Given the description of an element on the screen output the (x, y) to click on. 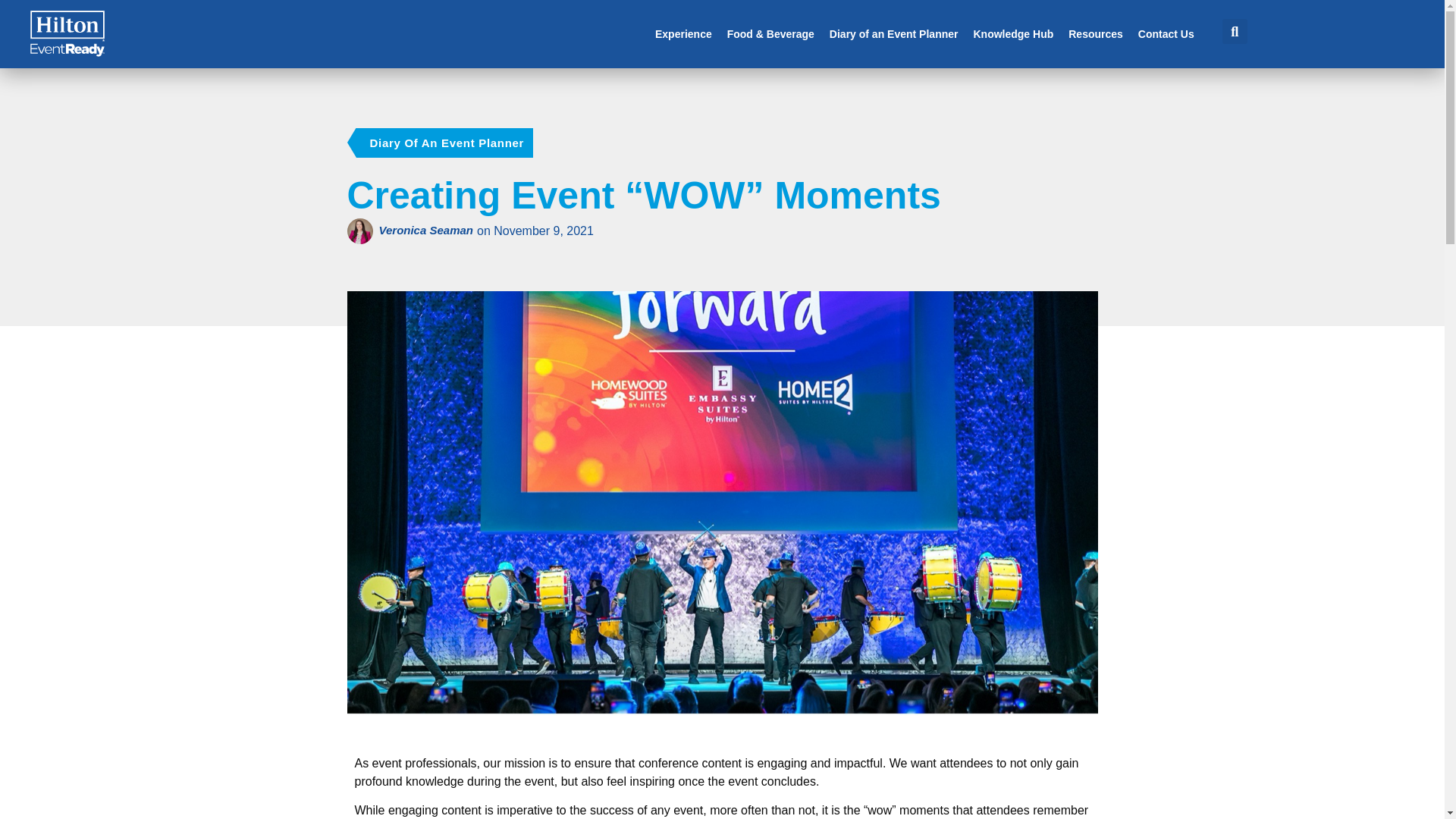
Diary of an Event Planner (893, 33)
Contact Us (1165, 33)
Diary Of An Event Planner (447, 142)
Knowledge Hub (1012, 33)
Experience (683, 33)
Resources (1095, 33)
